Given the description of an element on the screen output the (x, y) to click on. 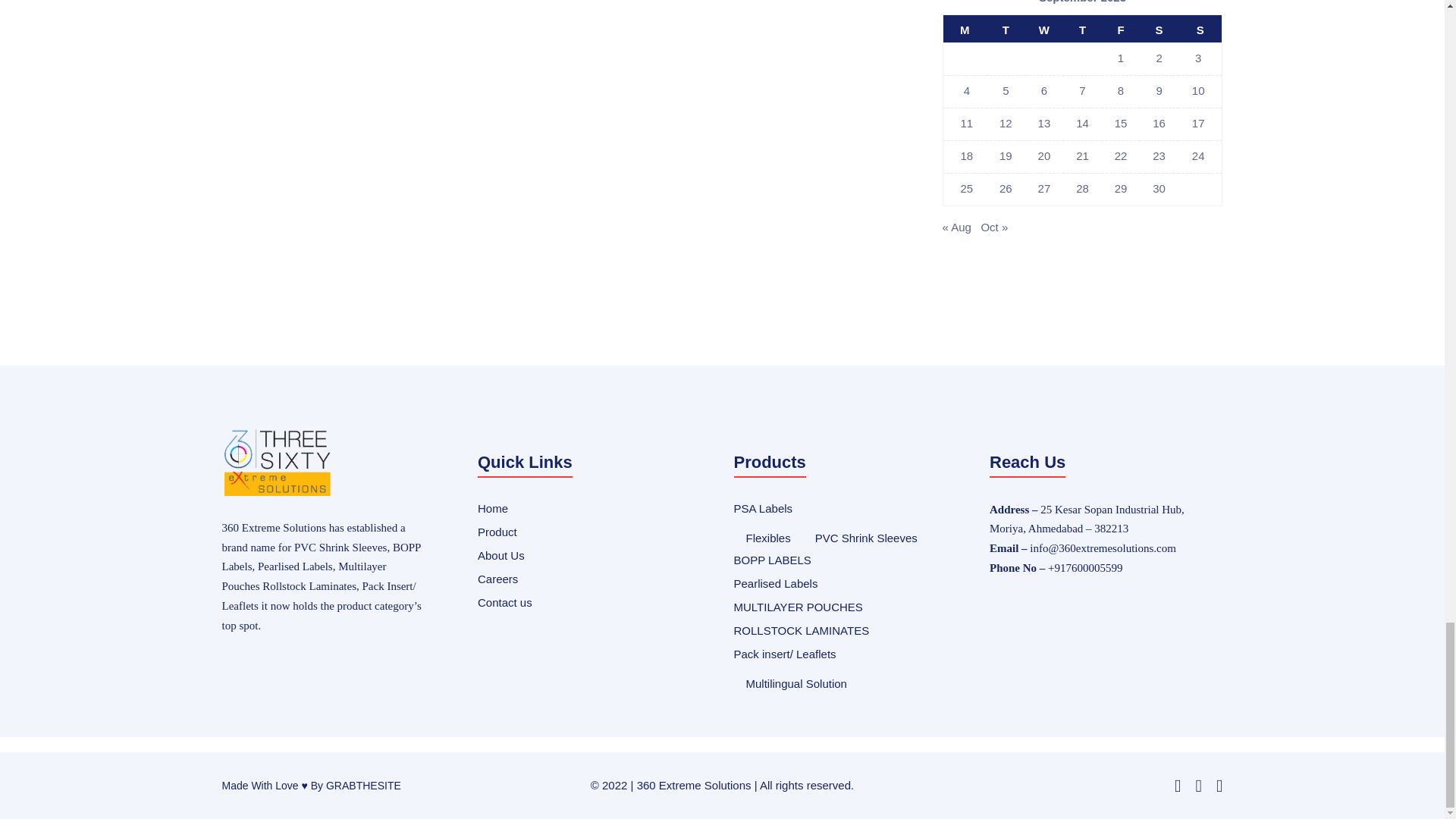
Monday (964, 29)
Thursday (1082, 29)
Sunday (1200, 29)
Saturday (1158, 29)
Tuesday (1006, 29)
Wednesday (1044, 29)
Friday (1121, 29)
